Given the description of an element on the screen output the (x, y) to click on. 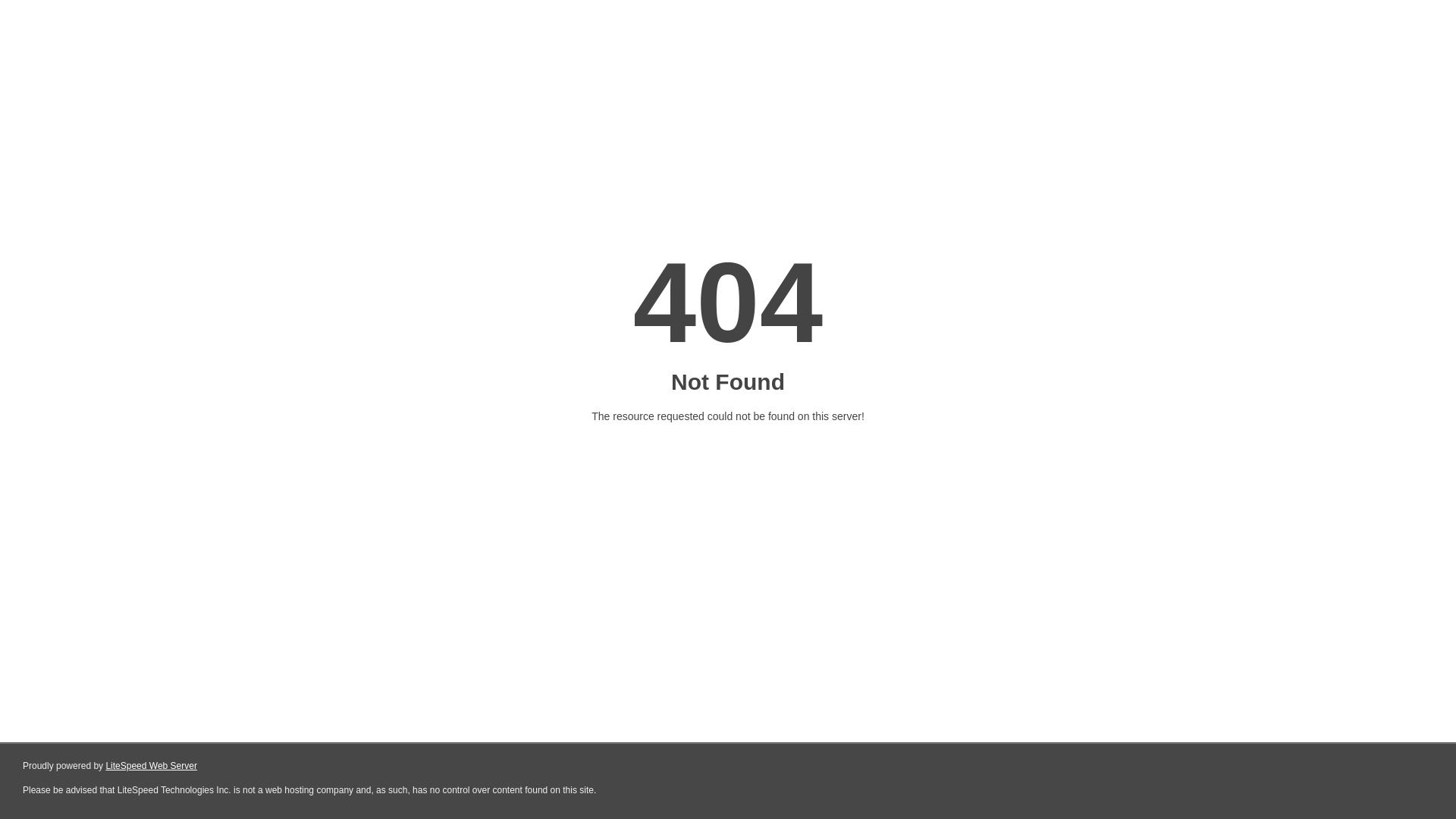
LiteSpeed Web Server Element type: text (151, 765)
